Given the description of an element on the screen output the (x, y) to click on. 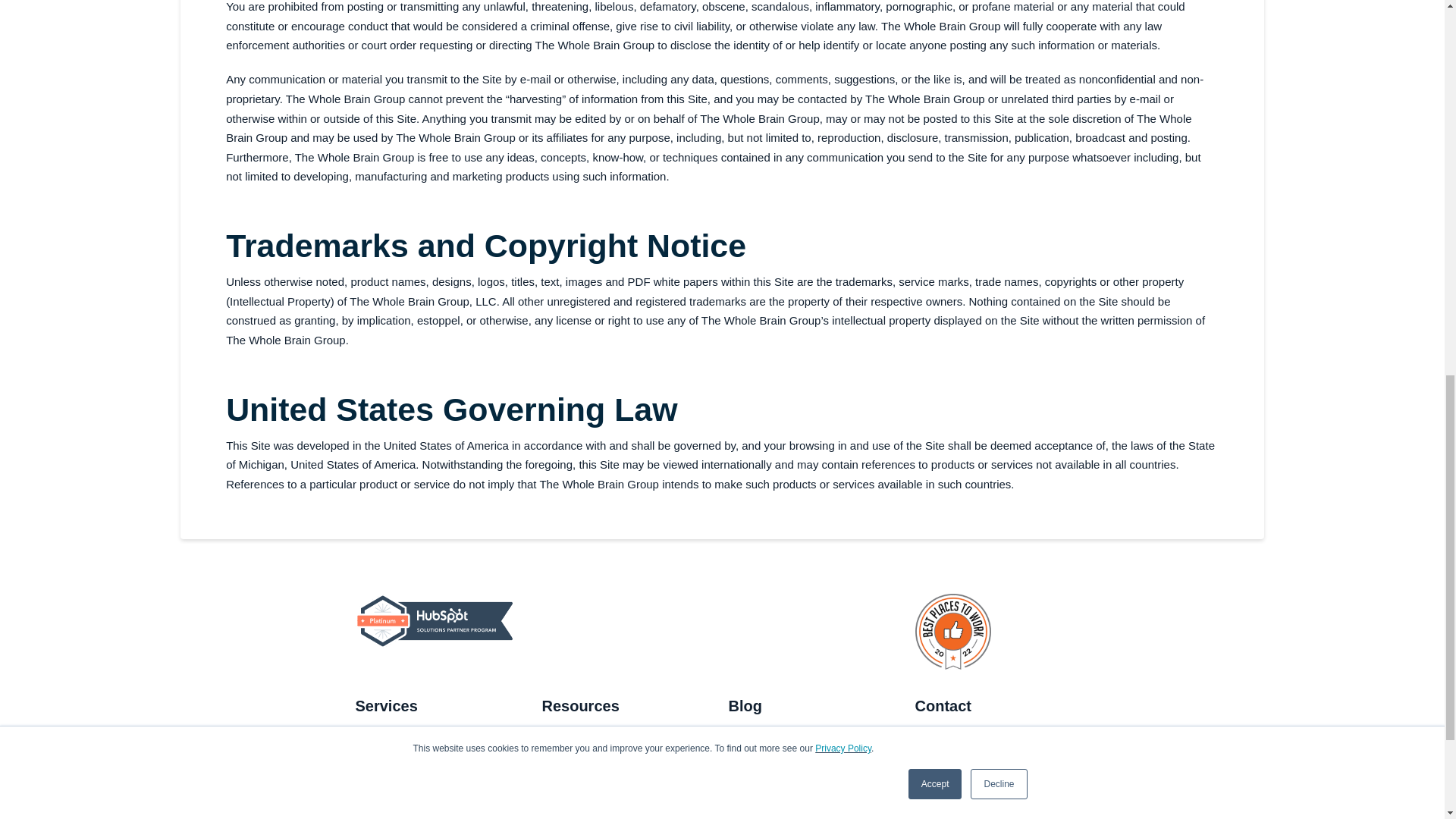
Our Capabilities (401, 806)
Subscribe to the blog (787, 774)
Website Design Services (424, 774)
Our Process (579, 806)
Case Studies (581, 774)
Resource Center (590, 737)
Blog (745, 737)
Inbound Marketing (408, 737)
Schedule a Consultation (982, 737)
Technical Support (965, 774)
